Given the description of an element on the screen output the (x, y) to click on. 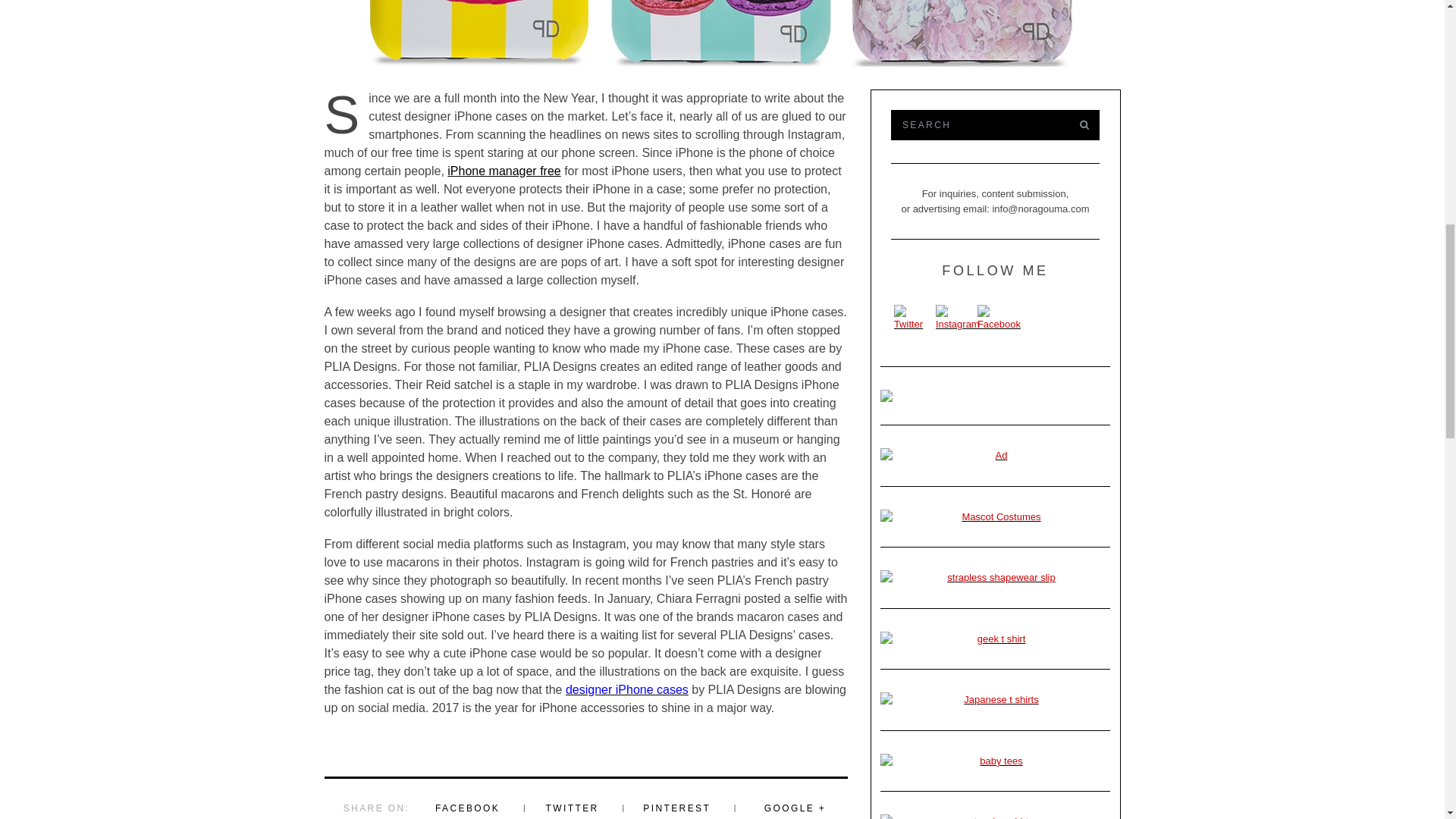
Twitter (913, 318)
baby tees (994, 761)
Japanese t shirts (994, 699)
teacher shirt (994, 816)
geek t shirt (994, 639)
Facebook (998, 318)
Instagram (957, 318)
Affordbable Mascot Costumes for Every Event - Buyamascot.com (994, 516)
Search (976, 124)
